Given the description of an element on the screen output the (x, y) to click on. 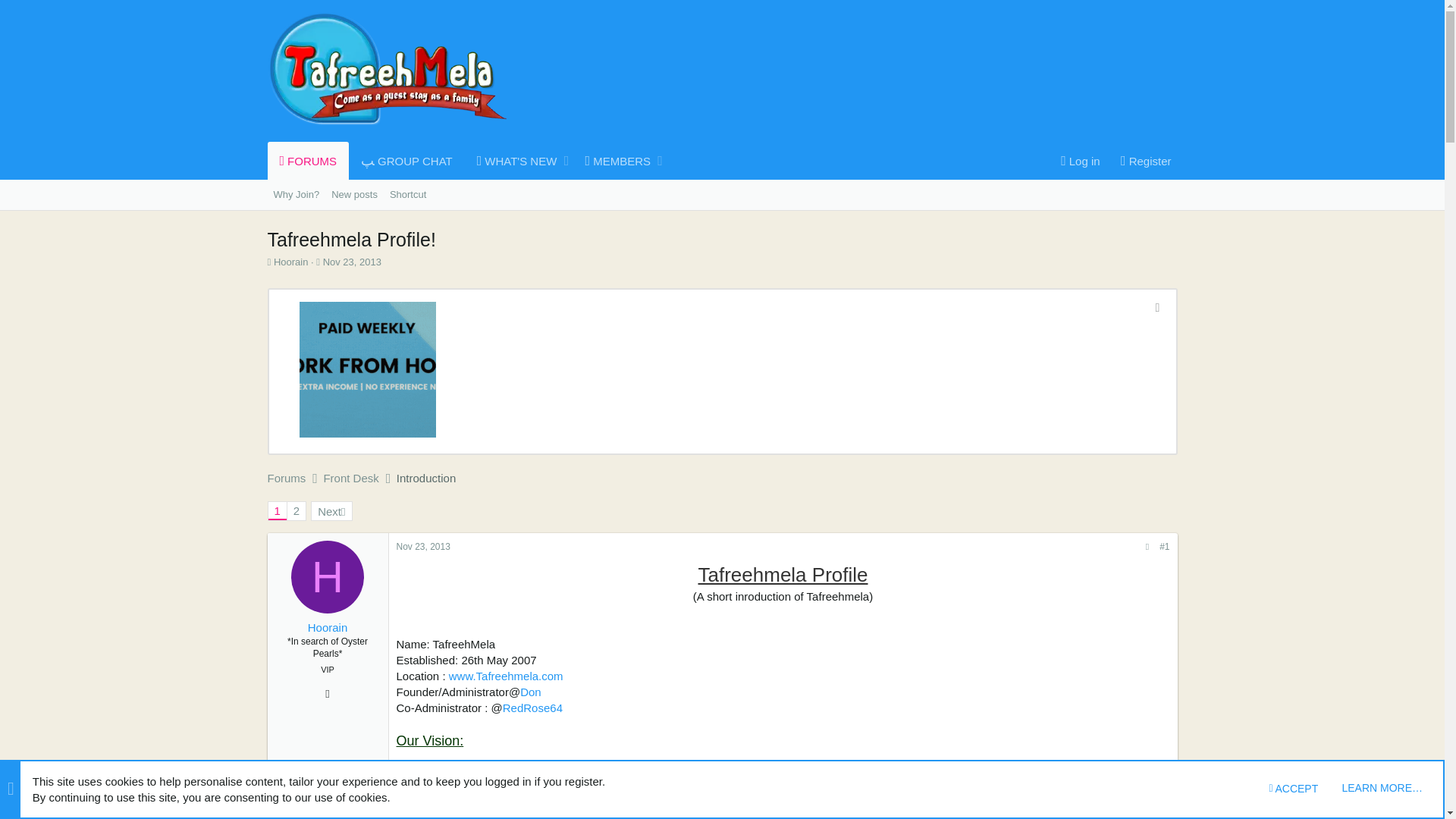
Nov 23, 2013 at 6:48 PM (422, 546)
Why Join? (295, 194)
WHAT'S NEW (512, 160)
MEMBERS (613, 160)
Introduction (425, 478)
Register (466, 160)
Nov 23, 2013 at 6:48 PM (1141, 161)
Log in (352, 261)
